Given the description of an element on the screen output the (x, y) to click on. 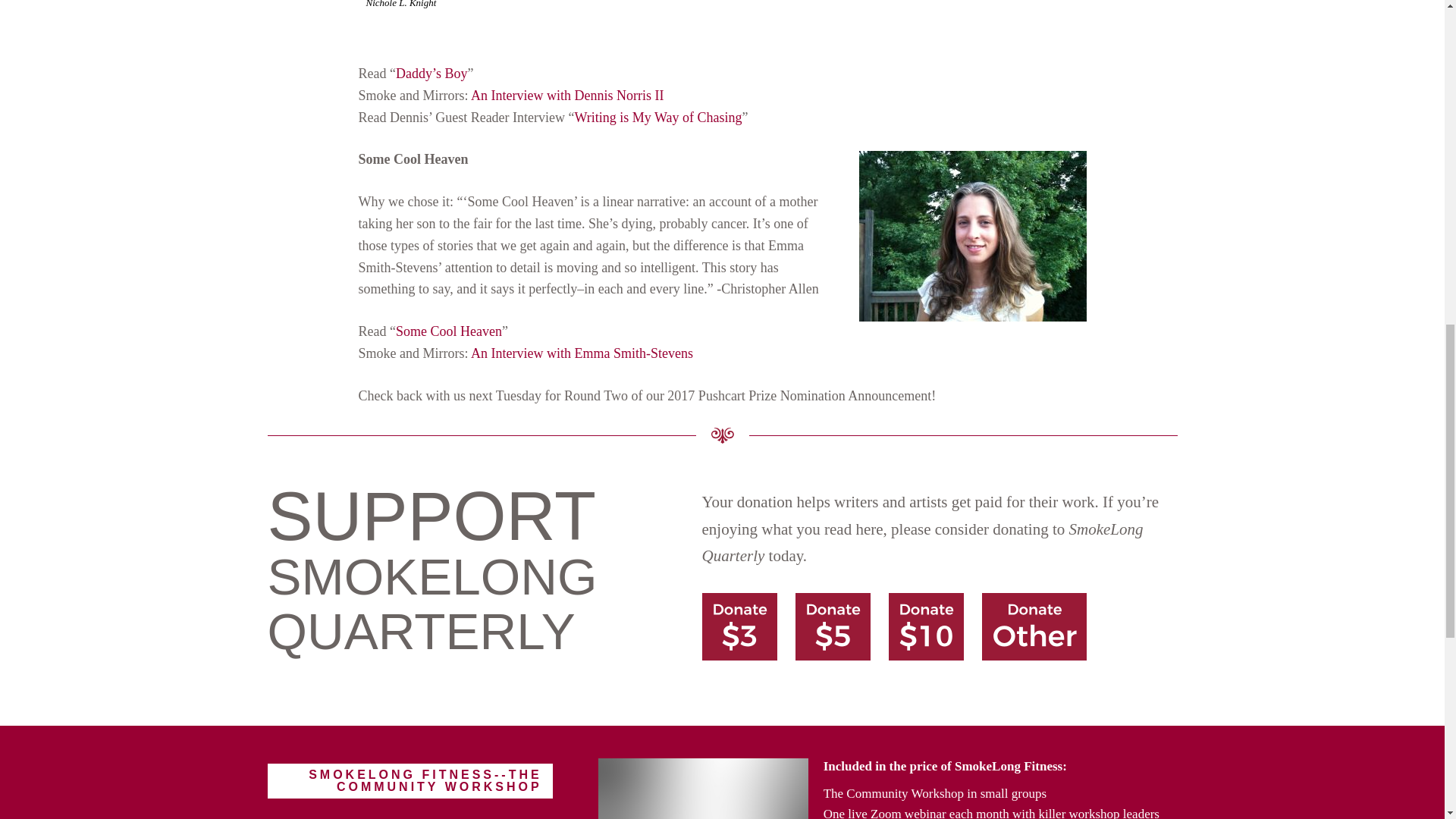
PayPal - The safer, easier way to pay online! (832, 626)
PayPal - The safer, easier way to pay online! (925, 626)
PayPal - The safer, easier way to pay online! (739, 626)
PayPal - The safer, easier way to pay online! (1033, 626)
